Given the description of an element on the screen output the (x, y) to click on. 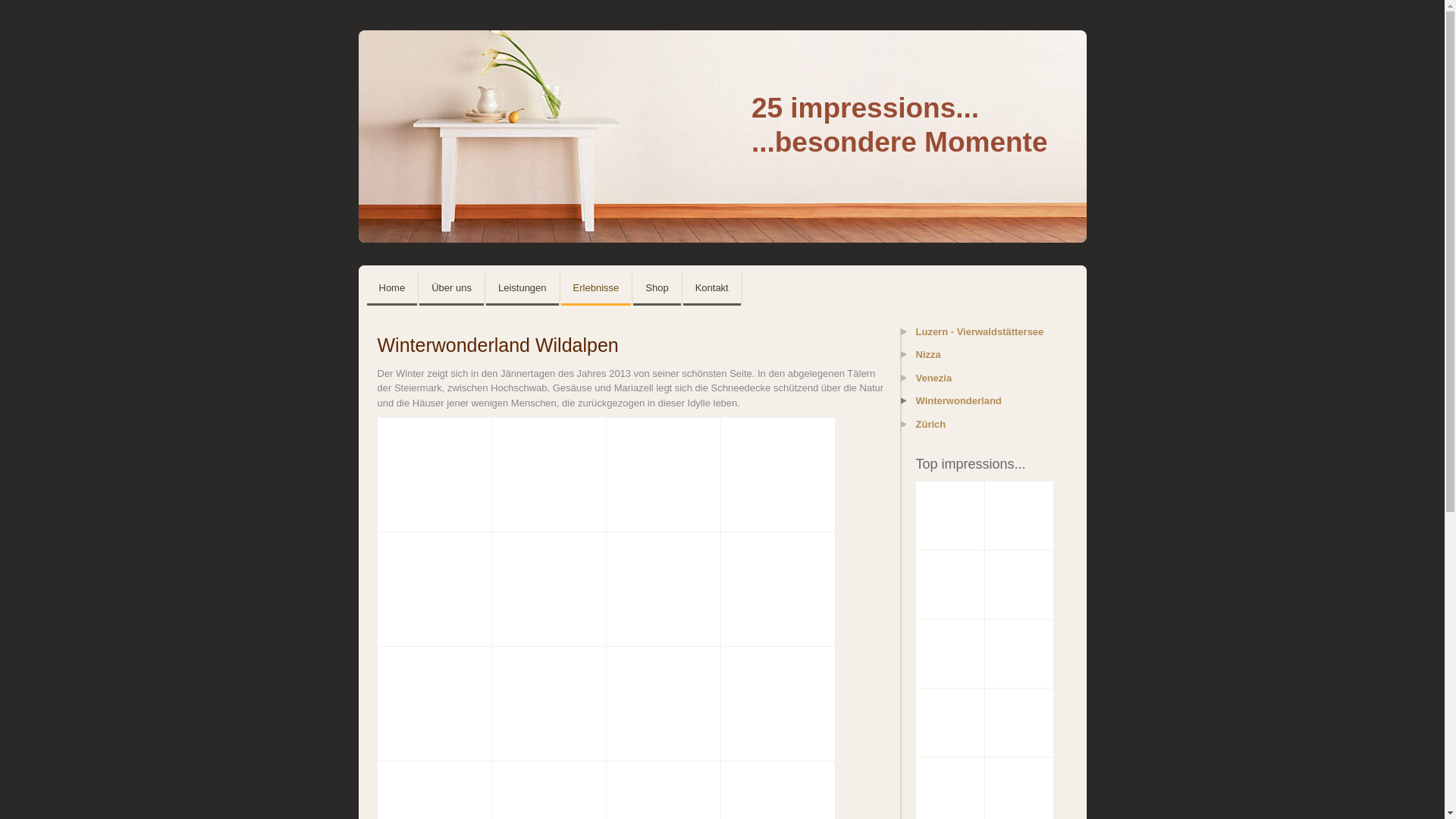
Erlebnisse Element type: text (596, 289)
Winterwonderland Element type: text (980, 405)
Nizza Element type: text (980, 358)
Shop Element type: text (656, 289)
25 impressions...
...besondere Momente Element type: text (721, 136)
Kontakt Element type: text (711, 289)
Home Element type: text (392, 289)
Venezia Element type: text (980, 381)
Leistungen Element type: text (522, 289)
